Given the description of an element on the screen output the (x, y) to click on. 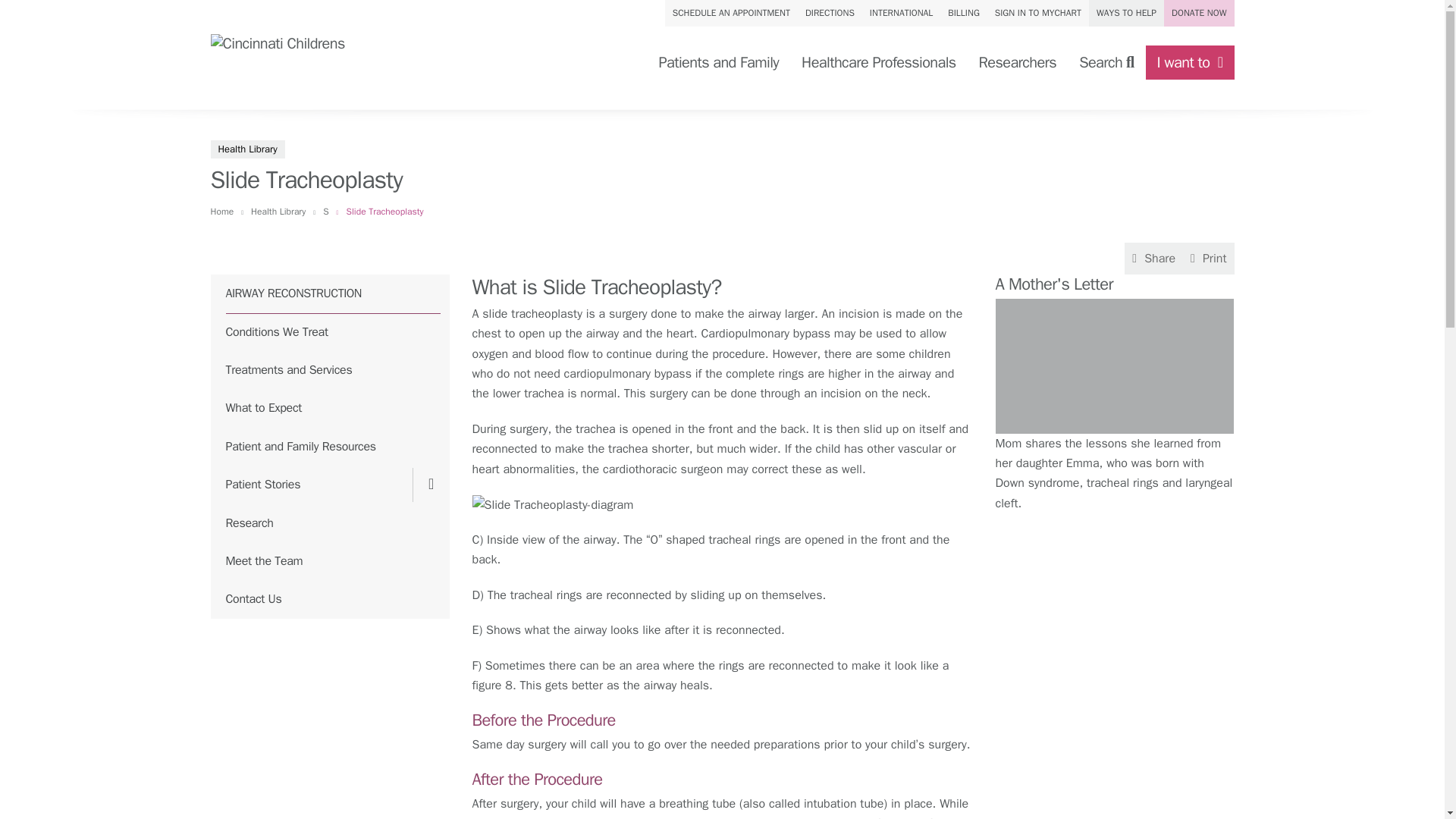
View locations and directions.  (829, 13)
SCHEDULE AN APPOINTMENT (731, 13)
WAYS TO HELP (1126, 13)
Patients and Family (718, 62)
BILLING (963, 13)
Pay Your Bill. (963, 13)
SIGN IN TO MYCHART (1038, 13)
Give now to Cincinnati Children's (1198, 13)
Resources for international patients.  (900, 13)
Healthcare Professionals (878, 62)
DIRECTIONS (829, 13)
Researchers (1018, 62)
SIgn in to mychart. (1038, 13)
Schedule an appointment.  (731, 13)
DONATE NOW (1198, 13)
